Given the description of an element on the screen output the (x, y) to click on. 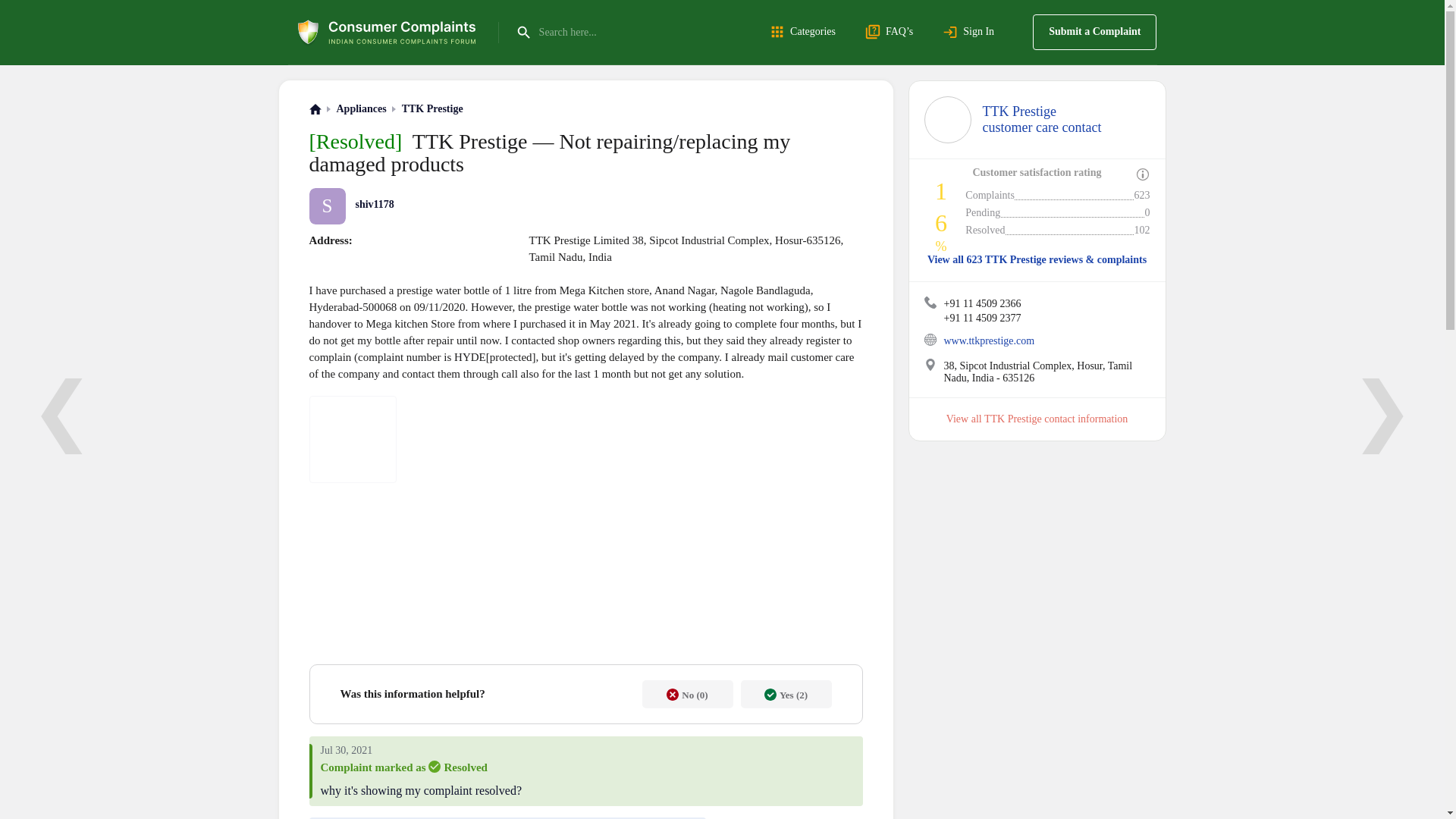
TTK Prestige Address (929, 364)
Categories (805, 31)
TTK Prestige Website (929, 339)
TTK Prestige (432, 109)
TTK Prestige Customer Care Service (947, 119)
www.ttkprestige.com (988, 340)
Sign In (971, 31)
TTK Prestige Phone (929, 302)
Appliances (1042, 119)
